Given the description of an element on the screen output the (x, y) to click on. 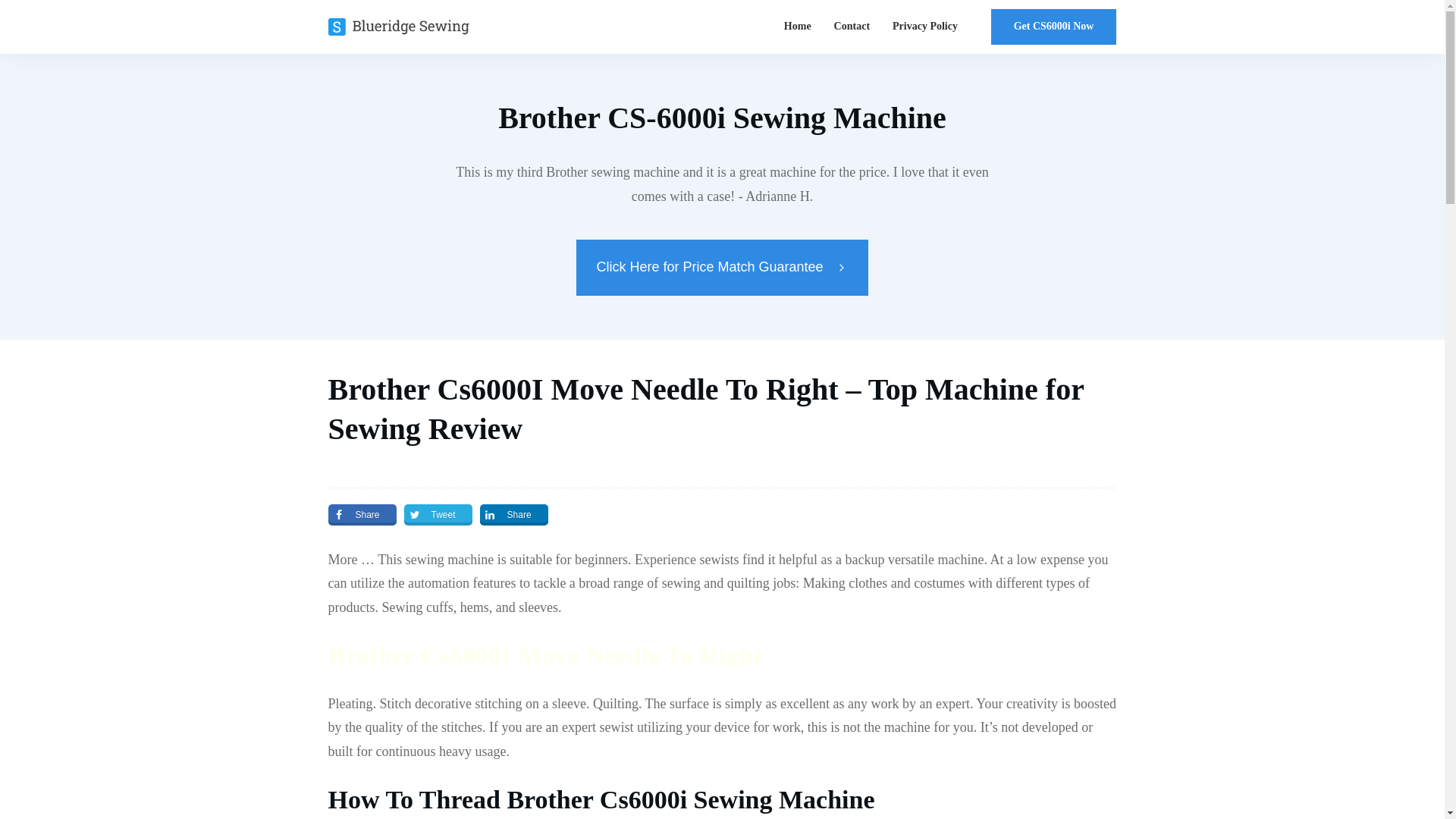
Share (514, 514)
Contact (851, 25)
Click Here for Price Match Guarantee (721, 267)
Home (797, 25)
Share (361, 514)
Privacy Policy (925, 25)
Tweet (437, 514)
Get CS6000i Now (1053, 27)
